Given the description of an element on the screen output the (x, y) to click on. 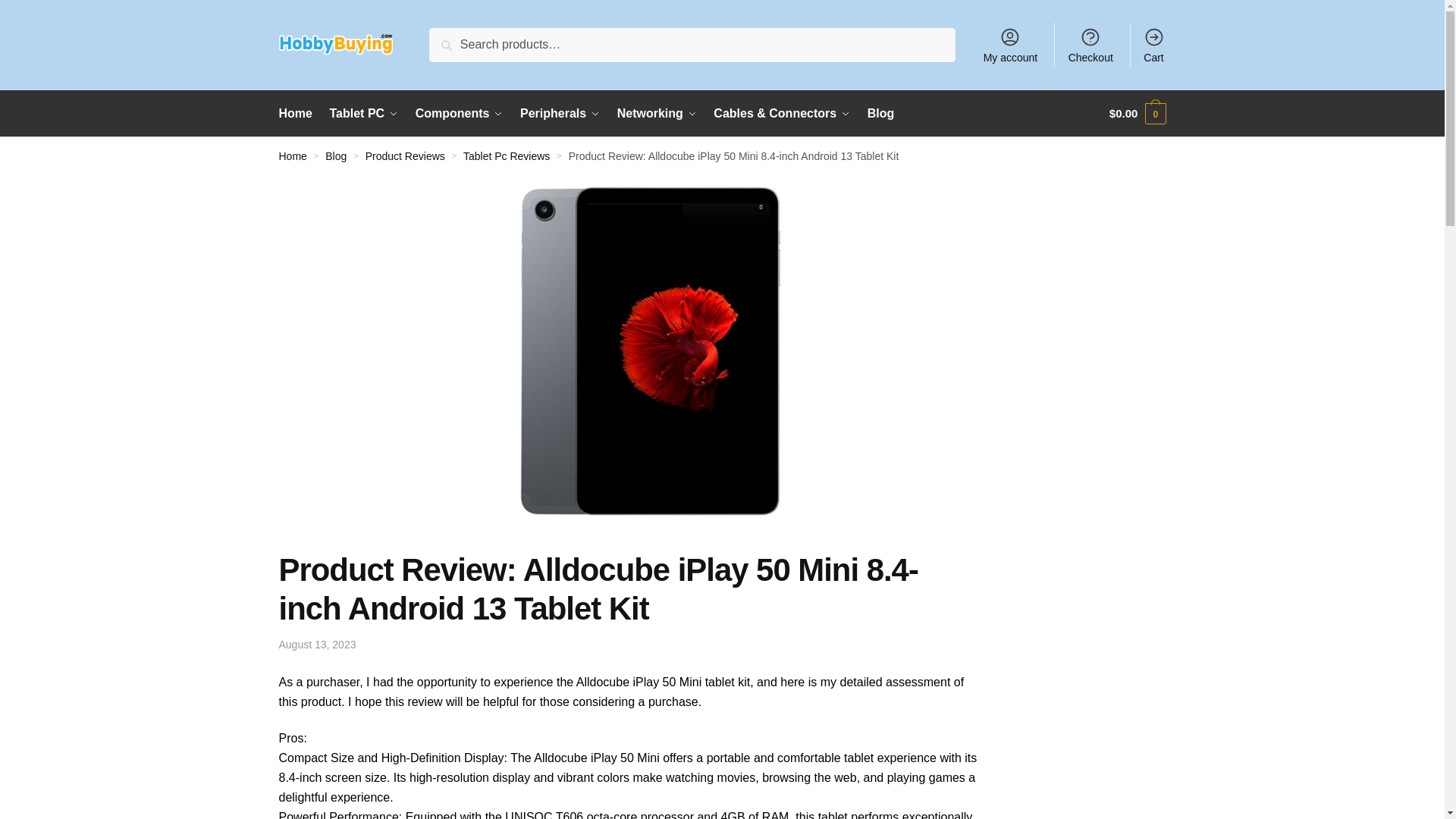
My account (1010, 44)
Checkout (1090, 44)
Tablet PC (363, 113)
Search (453, 38)
Components (459, 113)
Peripherals (560, 113)
View your shopping cart (1137, 113)
